Given the description of an element on the screen output the (x, y) to click on. 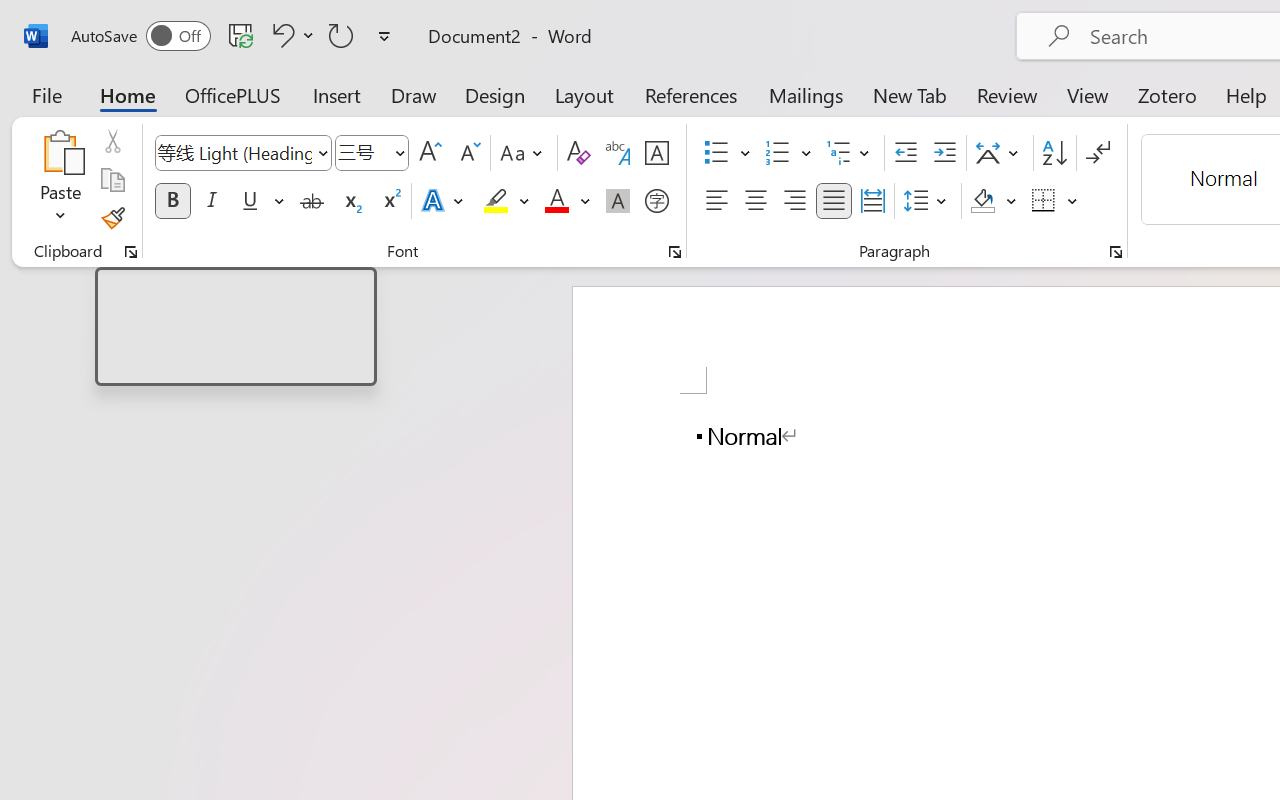
OfficePLUS (233, 94)
Strikethrough (312, 201)
Decrease Indent (906, 153)
Underline (261, 201)
Align Right (794, 201)
Text Highlight Color (506, 201)
AutoSave (140, 35)
Undo Typing (280, 35)
Paste (60, 151)
Center (756, 201)
Multilevel List (850, 153)
Save (241, 35)
Layout (584, 94)
New Tab (909, 94)
